Given the description of an element on the screen output the (x, y) to click on. 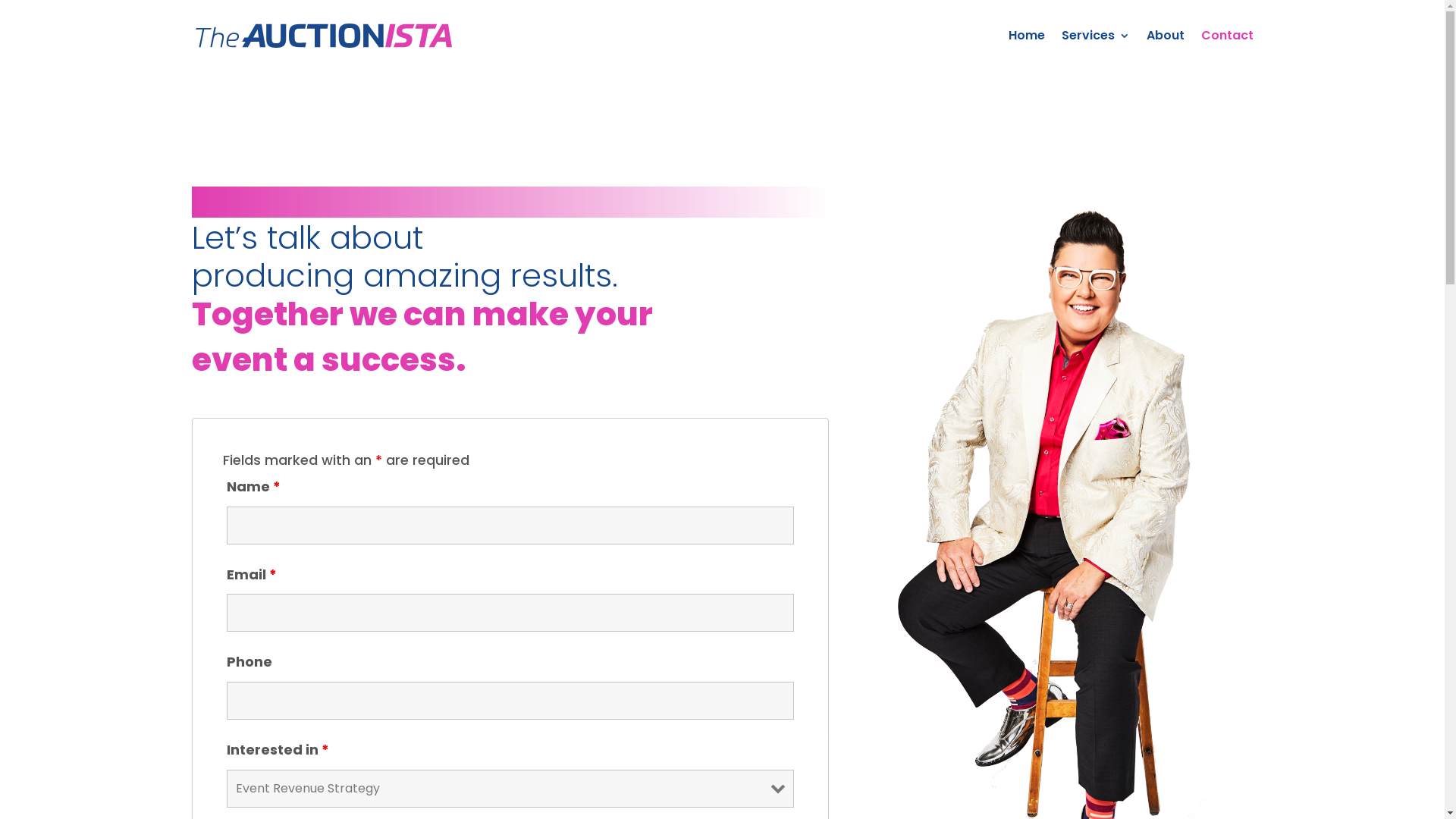
About Element type: text (1165, 50)
Contact Element type: text (1227, 50)
Services Element type: text (1095, 50)
Home Element type: text (1026, 50)
